Given the description of an element on the screen output the (x, y) to click on. 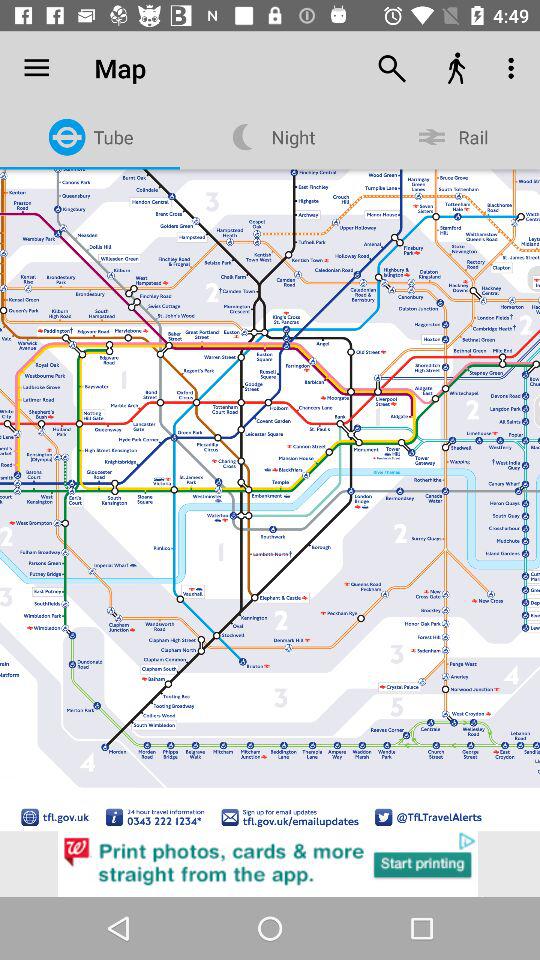
turn off icon above the rail (513, 67)
